Given the description of an element on the screen output the (x, y) to click on. 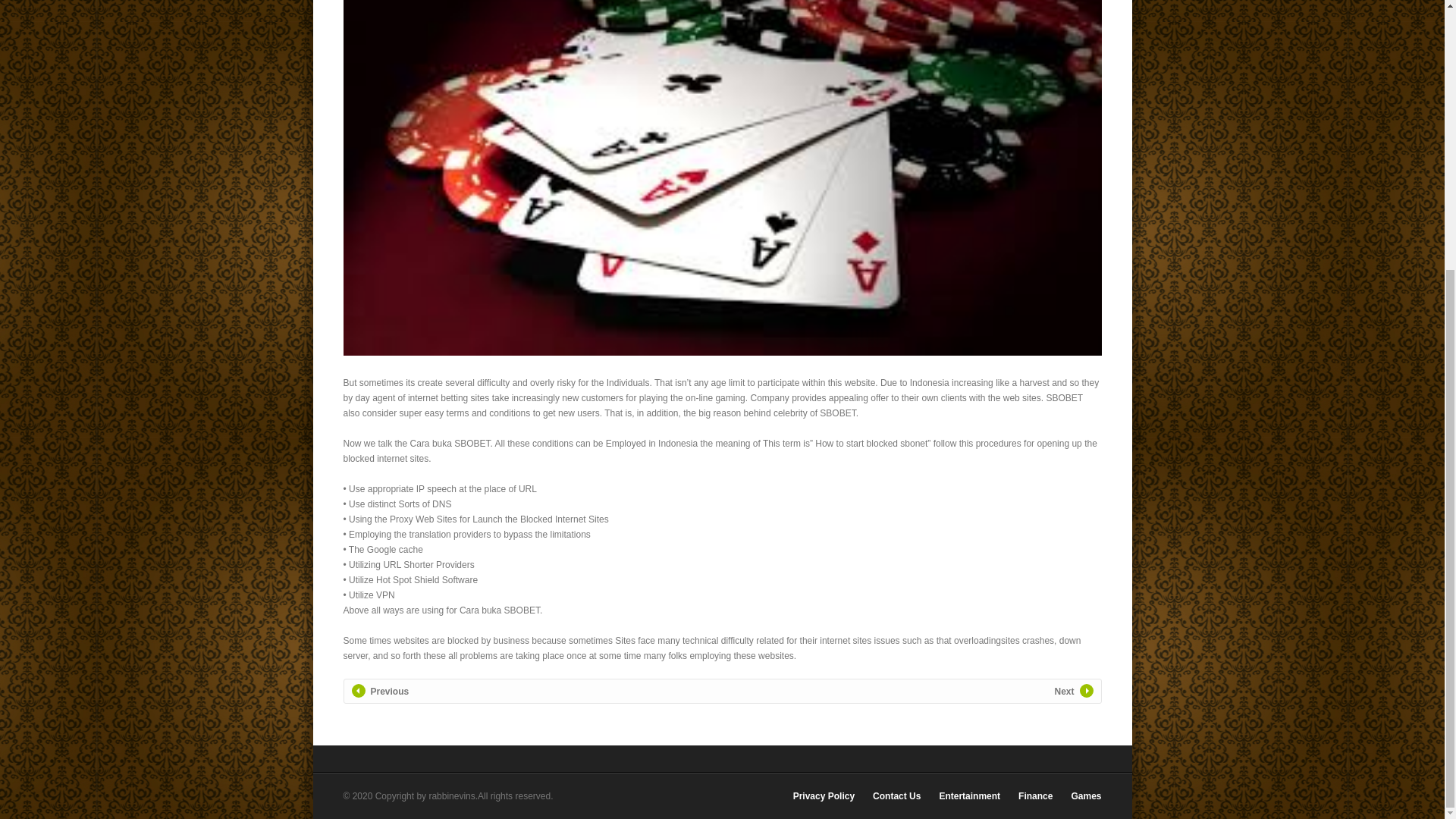
Entertainment (969, 796)
Contact Us (896, 796)
Privacy Policy (823, 796)
Finance (1034, 796)
Games (1085, 796)
